Given the description of an element on the screen output the (x, y) to click on. 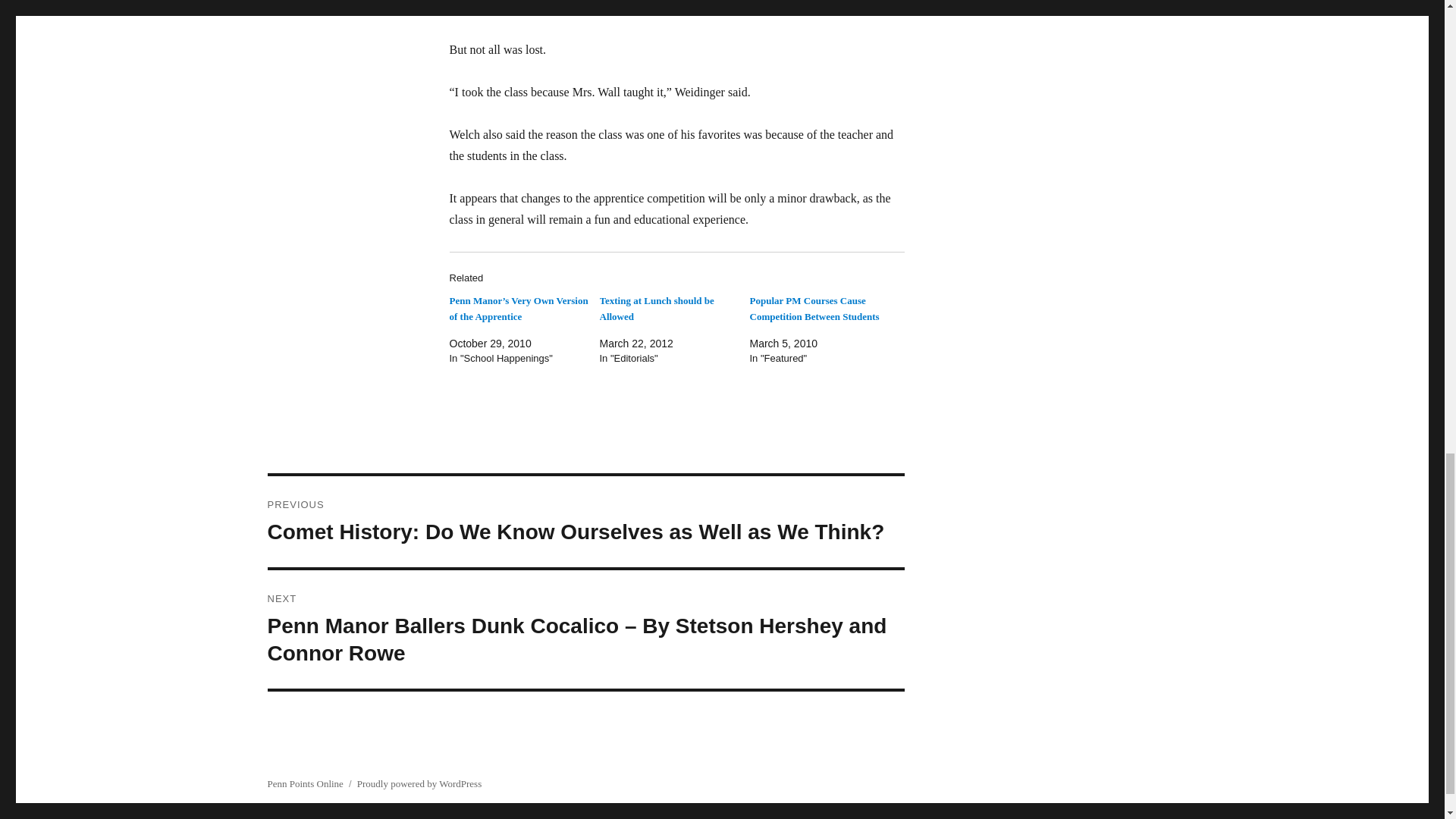
Popular PM Courses Cause Competition Between Students (814, 308)
Penn Points Online (304, 783)
Proudly powered by WordPress (418, 783)
Texting at Lunch should be Allowed (655, 308)
Texting at Lunch should be Allowed (655, 308)
Popular PM Courses Cause Competition Between Students (814, 308)
